Given the description of an element on the screen output the (x, y) to click on. 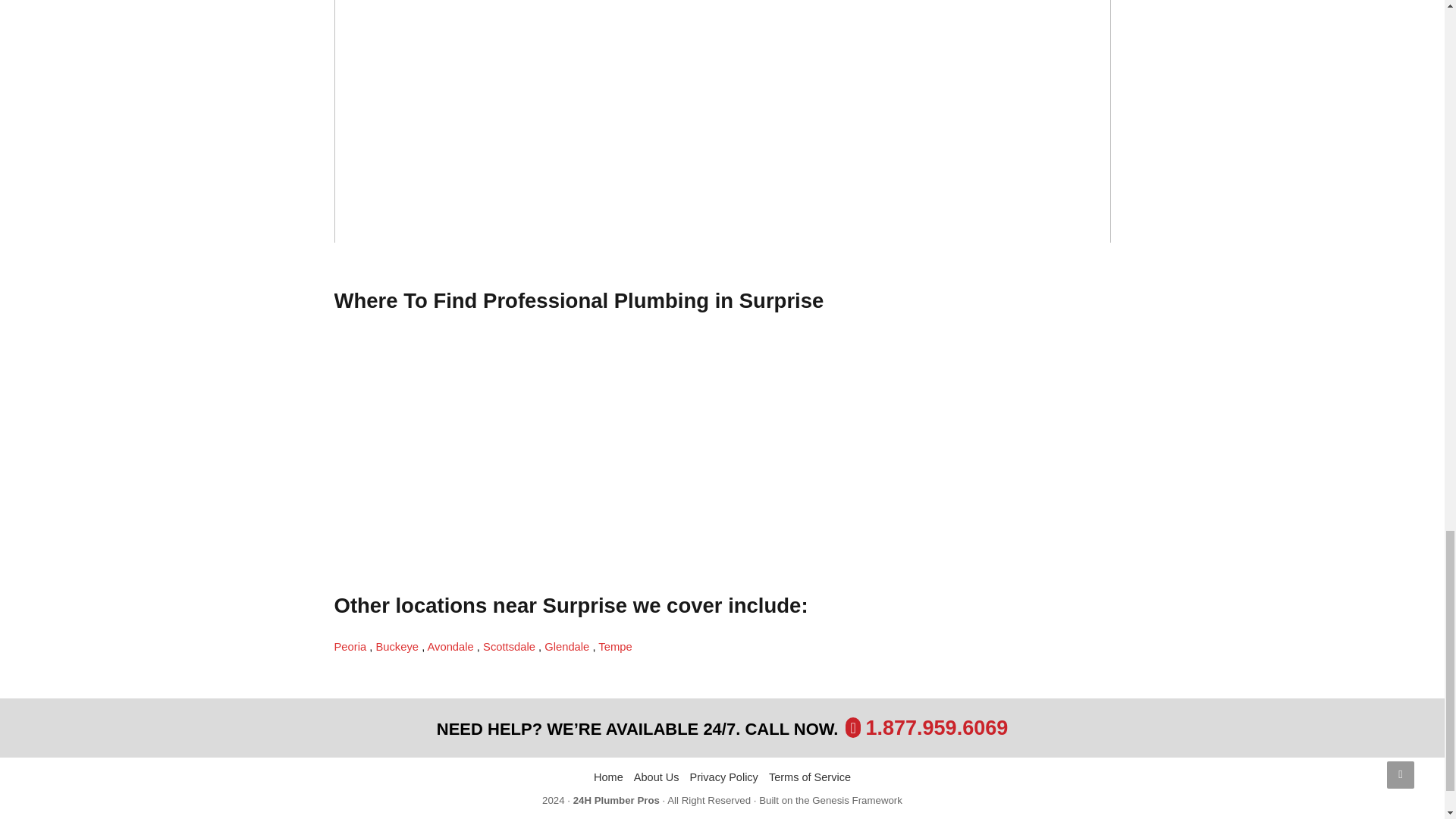
Avondale (452, 646)
Emergency Plumber in Scottsdale (510, 646)
Emergency Plumber Buckeye, AZ (398, 646)
Home (608, 777)
Buckeye (398, 646)
Terms of Service (809, 777)
Tempe (614, 646)
Emergency Plumber Avondale (452, 646)
Emergency Plumber in Tempe, AZ (614, 646)
Peoria (351, 646)
Emergency Plumber in Peoria, AZ (351, 646)
Glendale (568, 646)
About Us (656, 777)
Privacy Policy (724, 777)
